Given the description of an element on the screen output the (x, y) to click on. 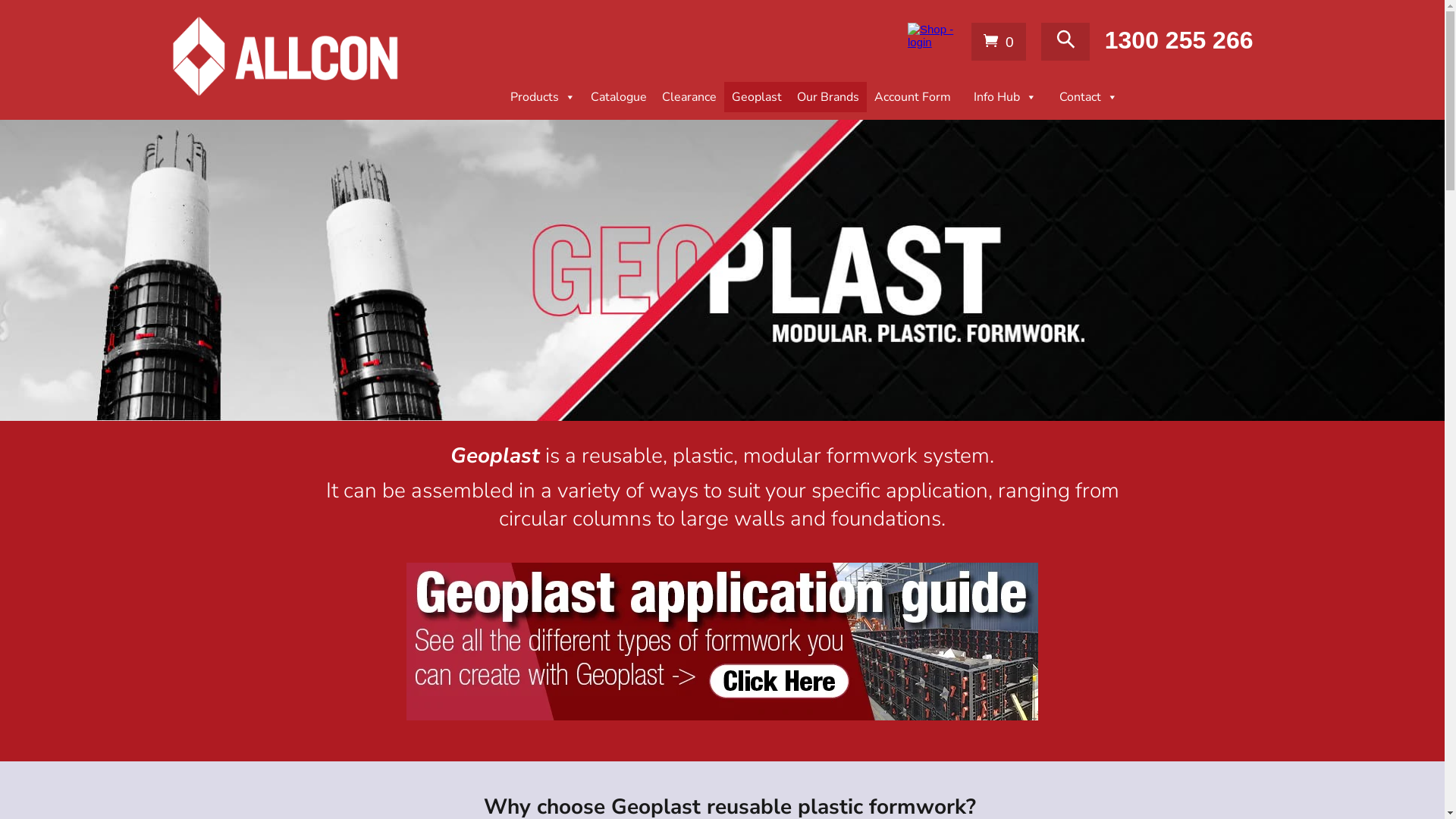
1300 255 266 Element type: text (1178, 41)
Account Form Element type: text (911, 96)
Info Hub Element type: text (1001, 96)
Contact Element type: text (1083, 96)
Clearance Element type: text (688, 96)
Geoplast modular formwork Element type: hover (722, 269)
Our Brands Element type: text (827, 96)
Geoplast Element type: text (755, 96)
Products Element type: text (538, 96)
0 Element type: text (998, 45)
Catalogue Element type: text (617, 96)
